Given the description of an element on the screen output the (x, y) to click on. 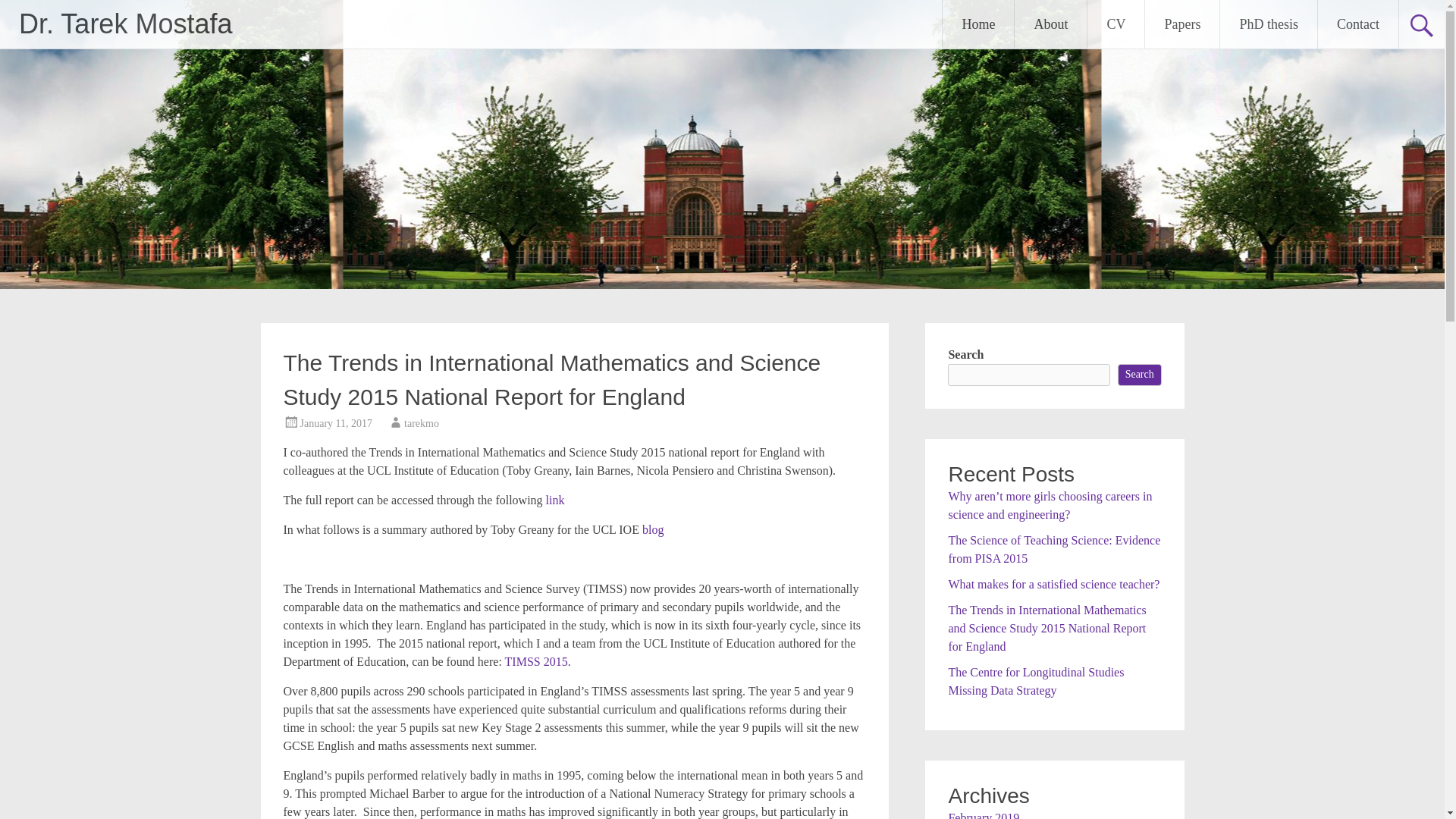
About (1050, 24)
February 2019 (983, 815)
January 11, 2017 (335, 423)
Search (1139, 374)
blog (652, 529)
The Science of Teaching Science: Evidence from PISA 2015 (1053, 549)
link (555, 499)
What makes for a satisfied science teacher? (1052, 584)
PhD thesis (1268, 24)
TIMSS 2015 (536, 661)
